Given the description of an element on the screen output the (x, y) to click on. 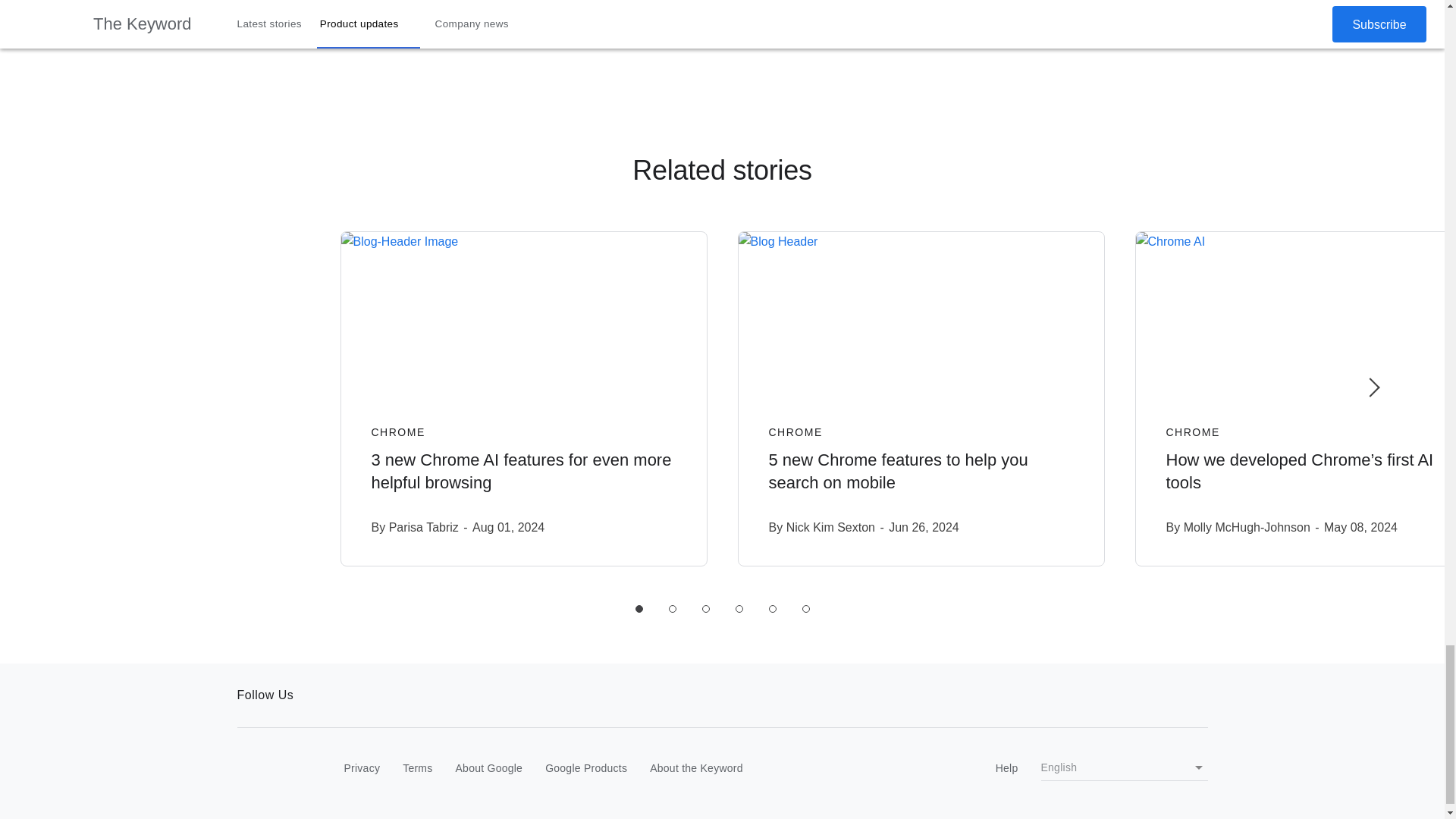
Google (268, 768)
